Given the description of an element on the screen output the (x, y) to click on. 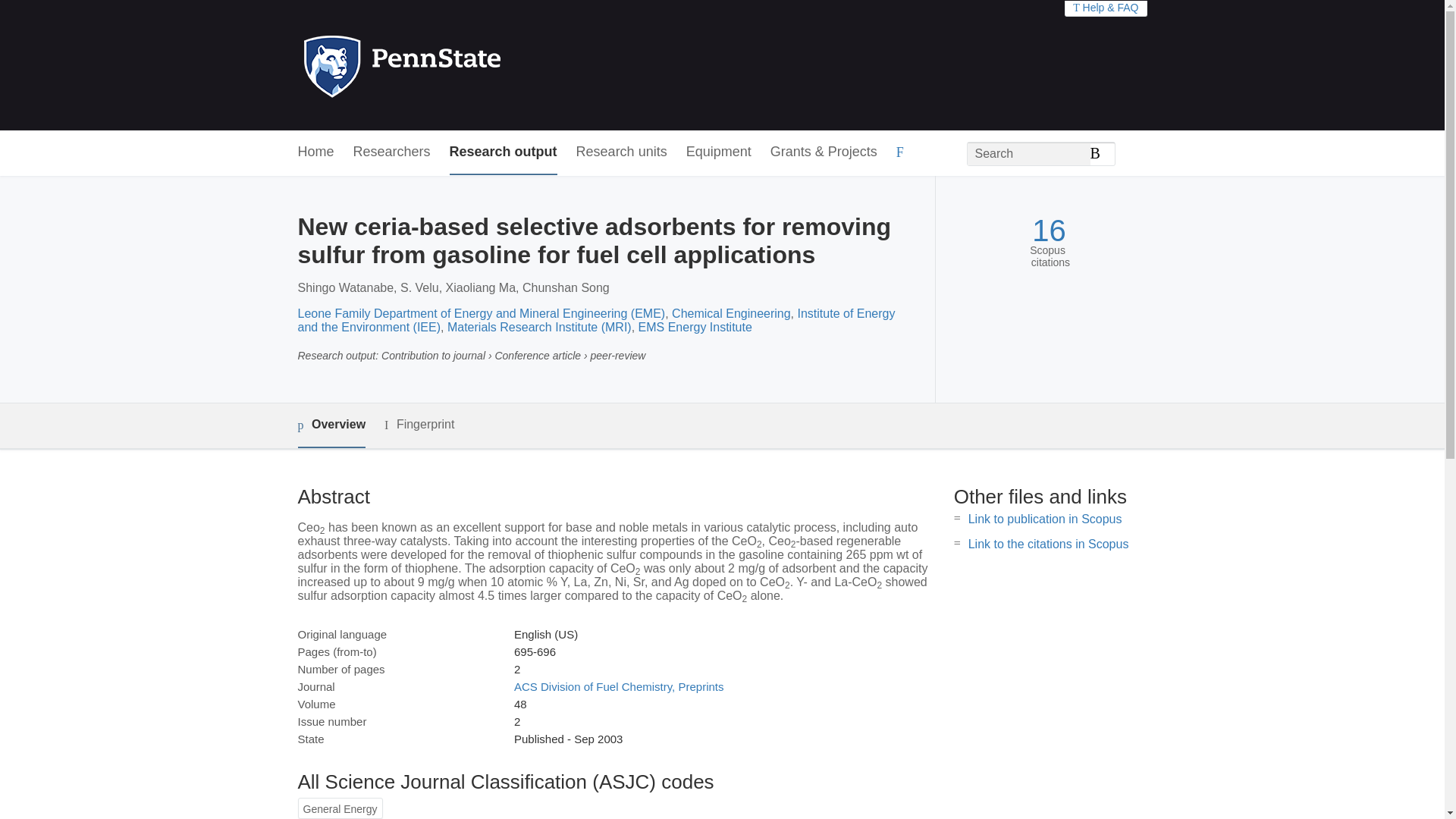
Equipment (718, 152)
EMS Energy Institute (695, 327)
Researchers (391, 152)
Fingerprint (419, 424)
Research output (503, 152)
Chemical Engineering (730, 313)
Penn State Home (467, 65)
Link to publication in Scopus (1045, 518)
Research units (621, 152)
Link to the citations in Scopus (1048, 543)
